Given the description of an element on the screen output the (x, y) to click on. 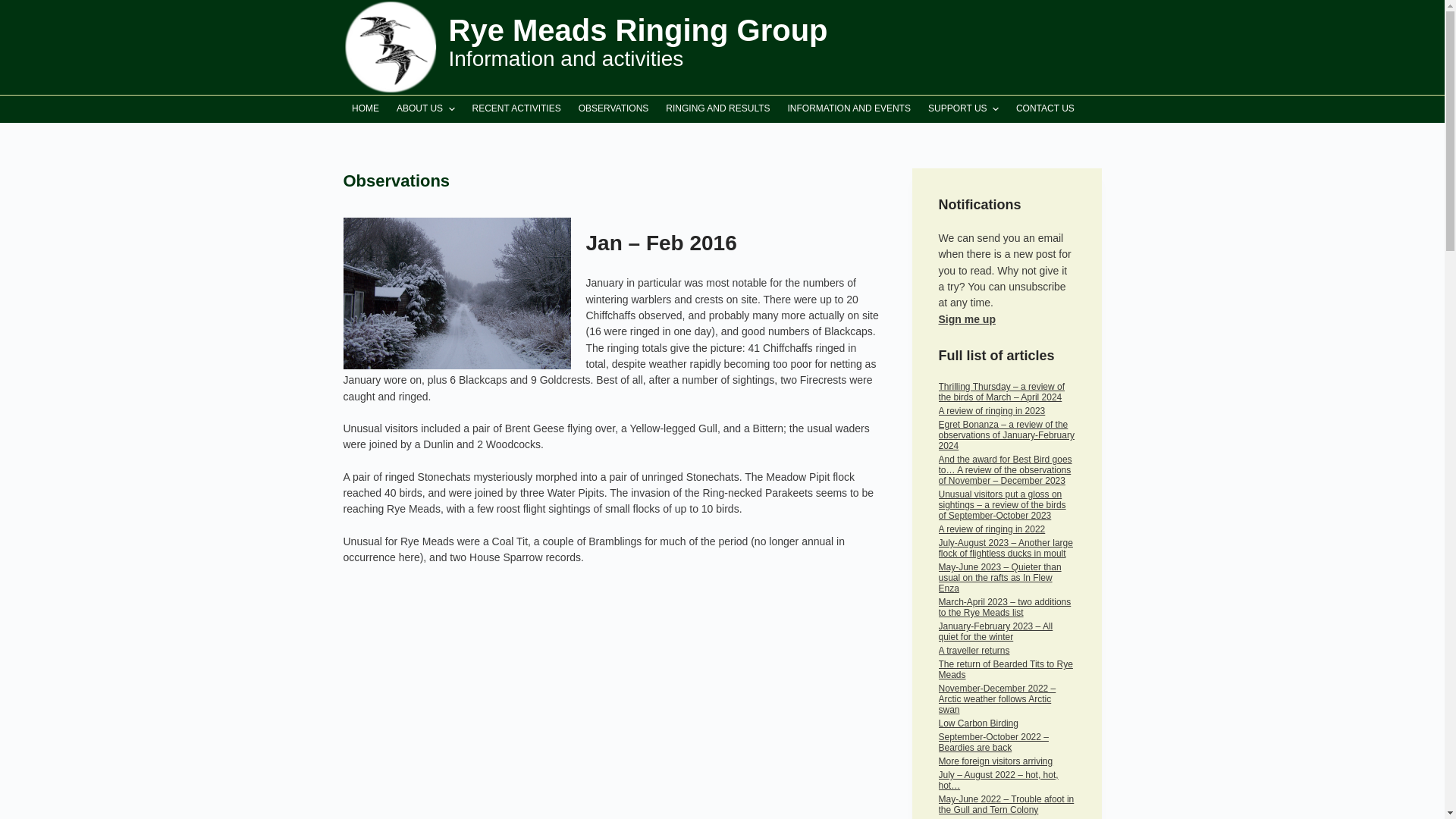
ABOUT US (426, 108)
HOME (364, 108)
Rye Meads Ringing Group (638, 29)
Skip to content (15, 7)
